Given the description of an element on the screen output the (x, y) to click on. 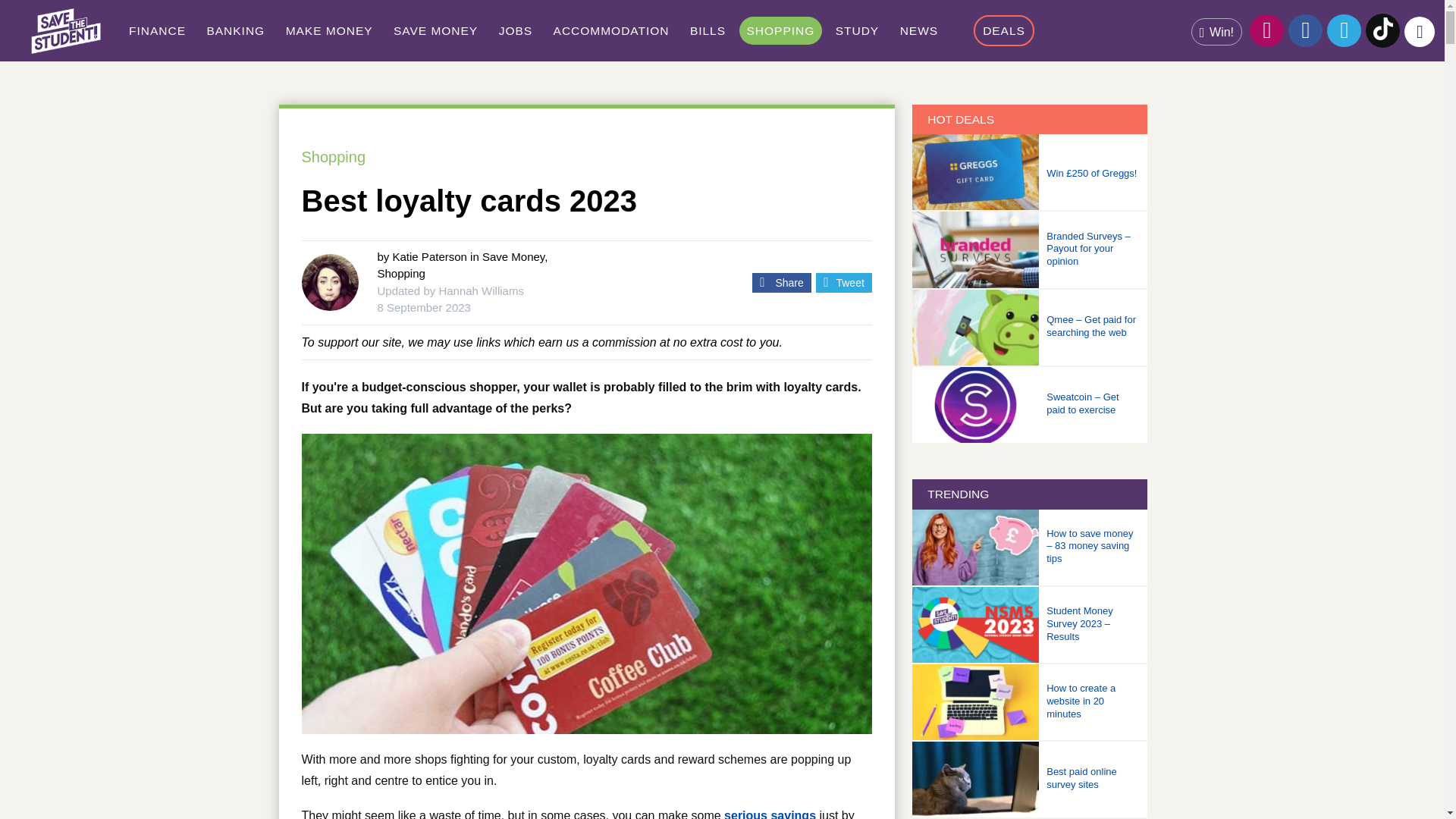
Make Money (329, 30)
Study Tips (857, 30)
Student Bills (707, 30)
MAKE MONEY (329, 30)
Student News (918, 30)
FINANCE (156, 30)
Deals (1003, 30)
Student Finance (156, 30)
Student Accommodation (611, 30)
JOBS (516, 30)
Shopping (780, 30)
Save Money (434, 30)
BANKING (235, 30)
SAVE MONEY (434, 30)
